Given the description of an element on the screen output the (x, y) to click on. 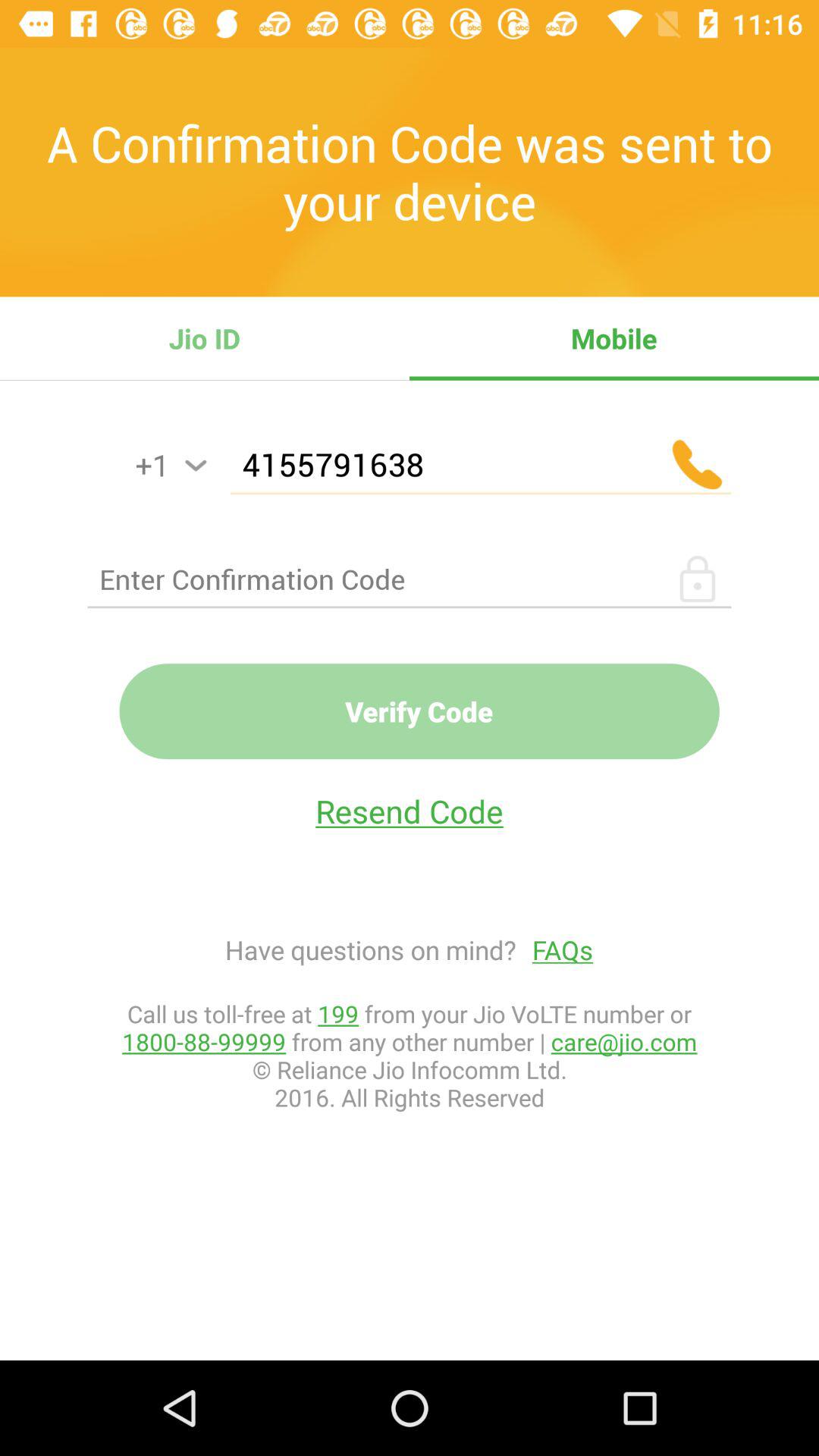
view phone number options (195, 465)
